Given the description of an element on the screen output the (x, y) to click on. 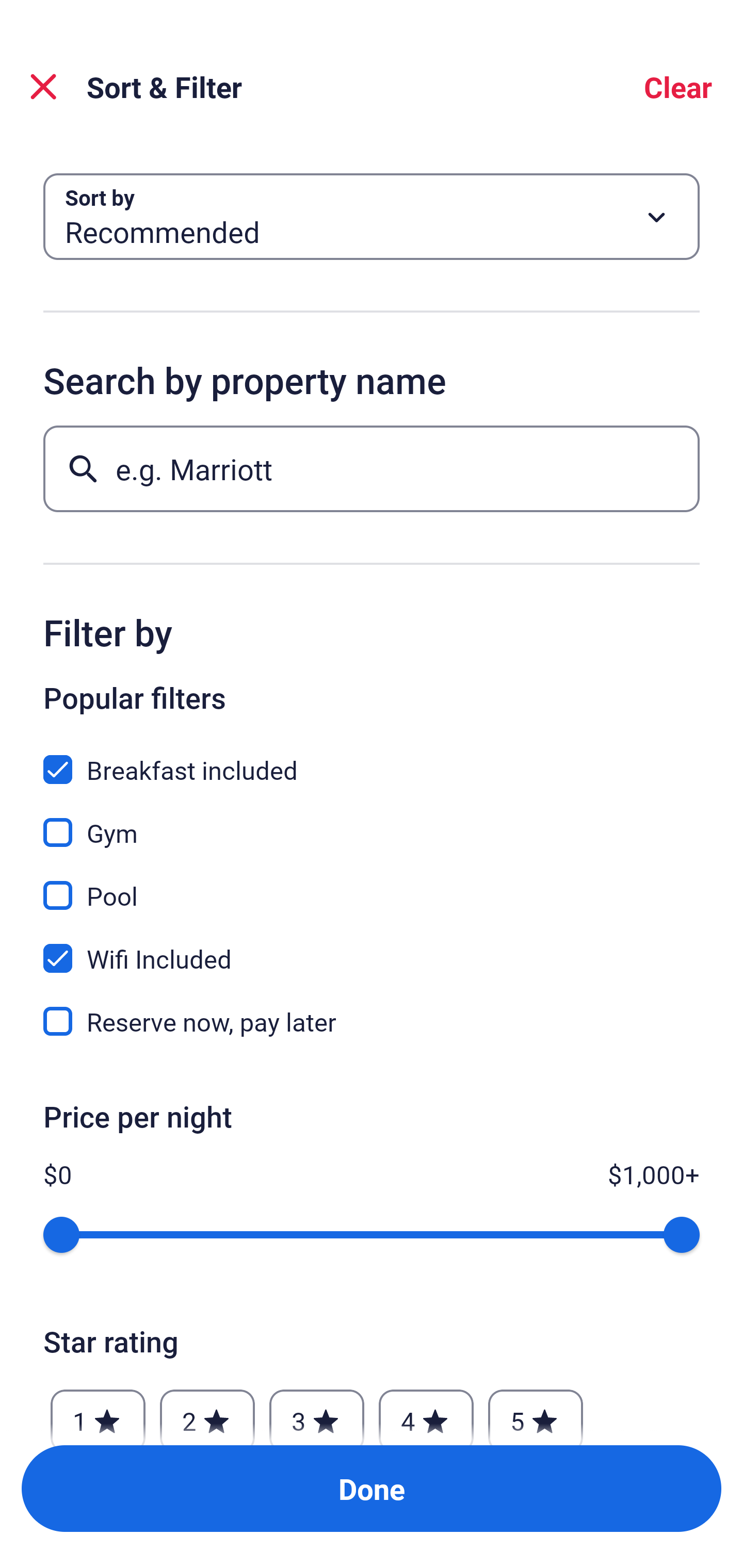
Close Sort and Filter (43, 86)
Clear (677, 86)
Sort by Button Recommended (371, 217)
e.g. Marriott Button (371, 468)
Breakfast included, Breakfast included (371, 757)
Gym, Gym (371, 821)
Pool, Pool (371, 883)
Wifi Included, Wifi Included (371, 946)
Reserve now, pay later, Reserve now, pay later (371, 1021)
1 (97, 1411)
2 (206, 1411)
3 (316, 1411)
4 (426, 1411)
5 (535, 1411)
Apply and close Sort and Filter Done (371, 1488)
